Given the description of an element on the screen output the (x, y) to click on. 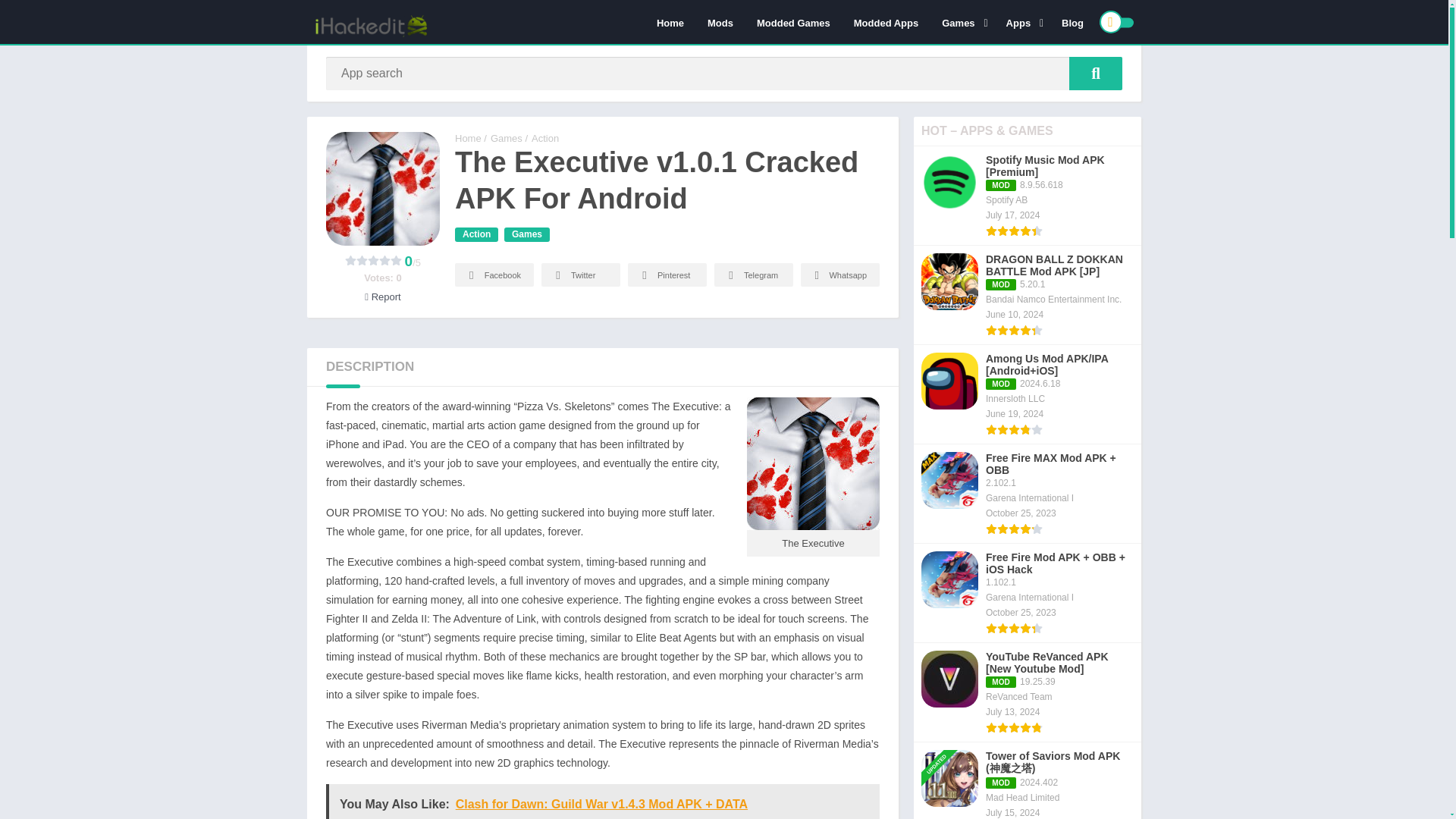
Apps (1021, 22)
Home (670, 22)
Modded Games (793, 22)
Modded Apps (886, 22)
Games (961, 22)
Updated (941, 744)
iHackedit (467, 138)
Mods (719, 22)
App search (1095, 73)
